Given the description of an element on the screen output the (x, y) to click on. 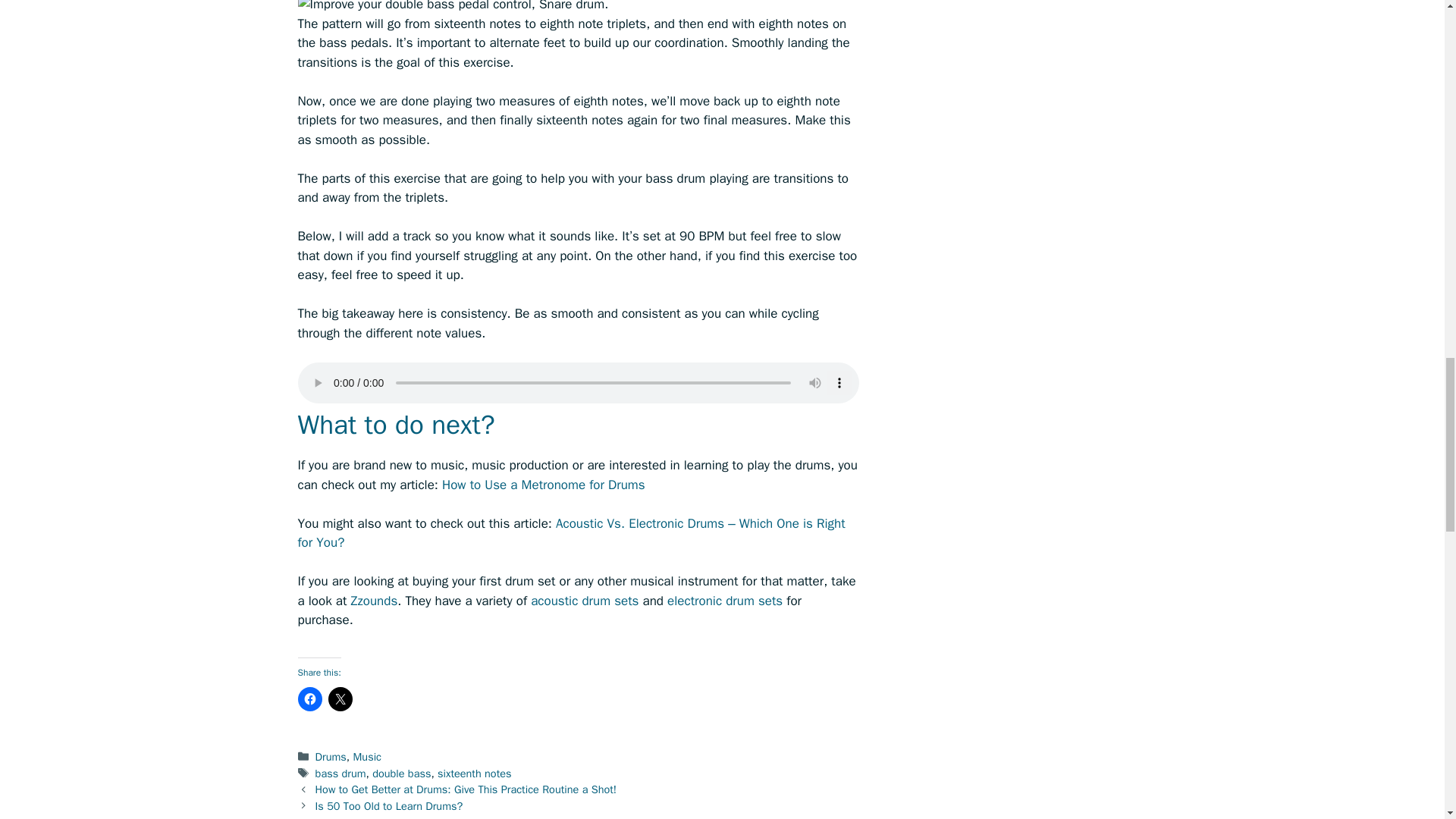
Zzounds (373, 600)
Music (367, 756)
acoustic drum sets (585, 600)
How to Use a Metronome for Drums (543, 483)
electronic drum sets (724, 600)
Click to share on Facebook (309, 699)
Drums (330, 756)
Click to share on X (339, 699)
